Given the description of an element on the screen output the (x, y) to click on. 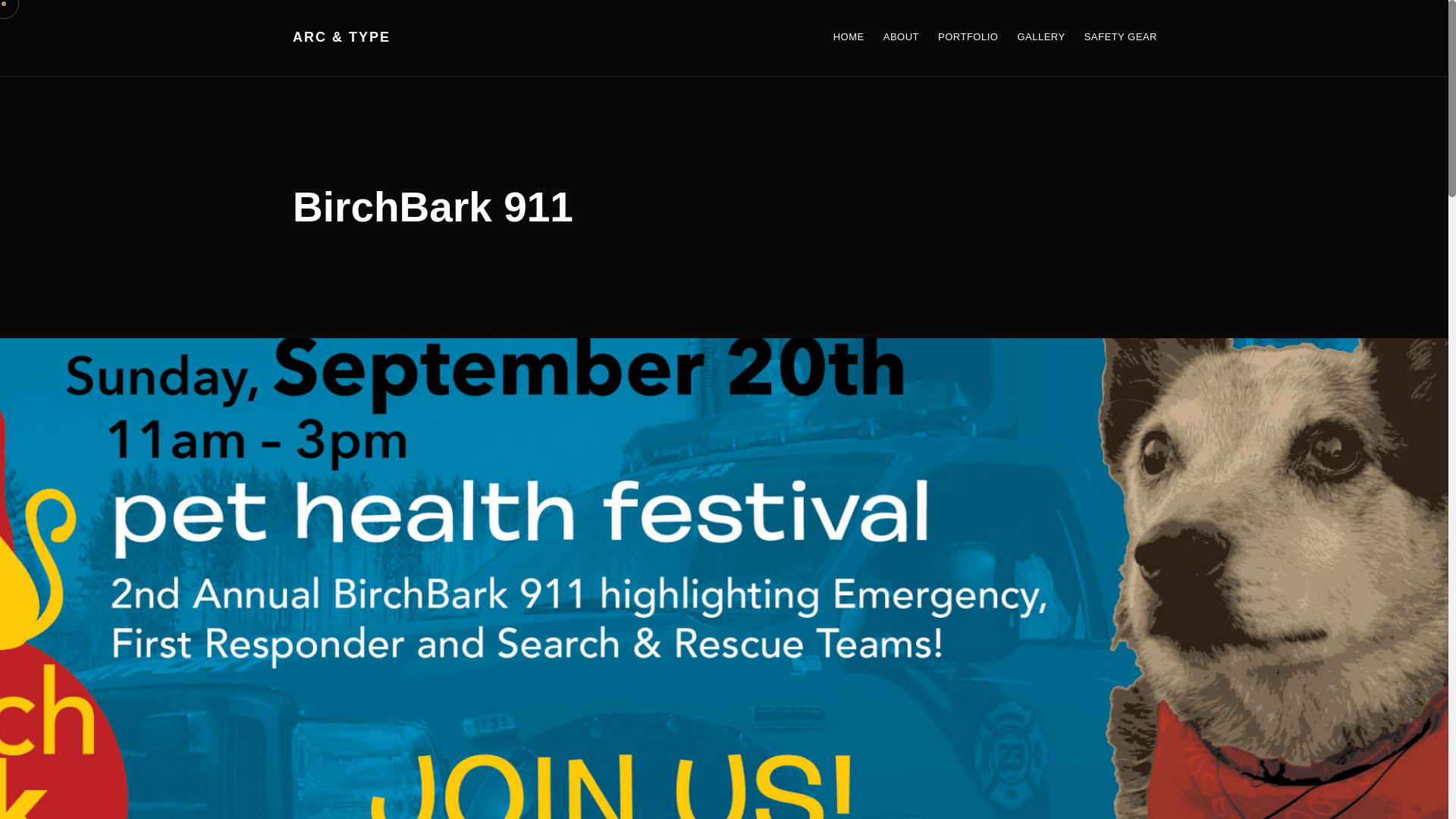
PORTFOLIO (957, 37)
ABOUT (891, 37)
SAFETY GEAR (1111, 37)
GALLERY (1030, 37)
HOME (838, 37)
